Given the description of an element on the screen output the (x, y) to click on. 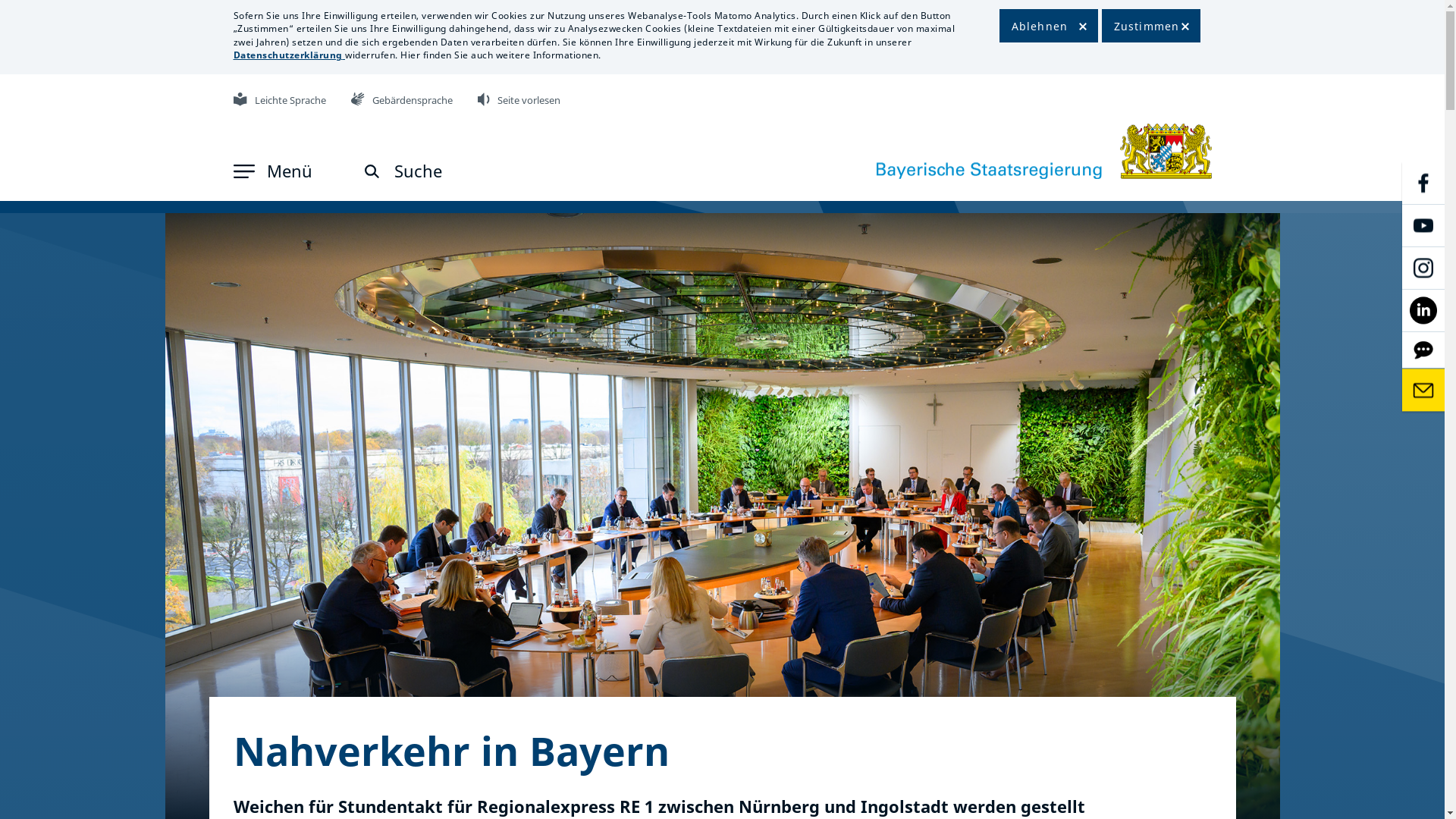
Messenger_Icon_2X Element type: hover (1423, 350)
210212_Icon_Seite vorlesen Element type: hover (483, 99)
Seite vorlesen Element type: text (519, 99)
210212_Icon_Leichte Sprache Element type: hover (240, 99)
Menu aufklappen Element type: hover (243, 170)
Icon Kontakt Element type: hover (1423, 390)
Ablehnen Element type: text (1048, 25)
Nahverkehr in Bayern Element type: text (451, 750)
Grosses_Staatswappen_farbig_Schrift Element type: hover (1043, 151)
Zustimmen Element type: text (1150, 25)
Icon_Facebook Element type: hover (1423, 182)
Linkedin Element type: hover (1423, 309)
Suche starten Element type: hover (371, 171)
Icon_Instagram Element type: hover (1423, 267)
Leichte Sprache Element type: text (279, 99)
Icon_YouTube Element type: hover (1423, 224)
